Given the description of an element on the screen output the (x, y) to click on. 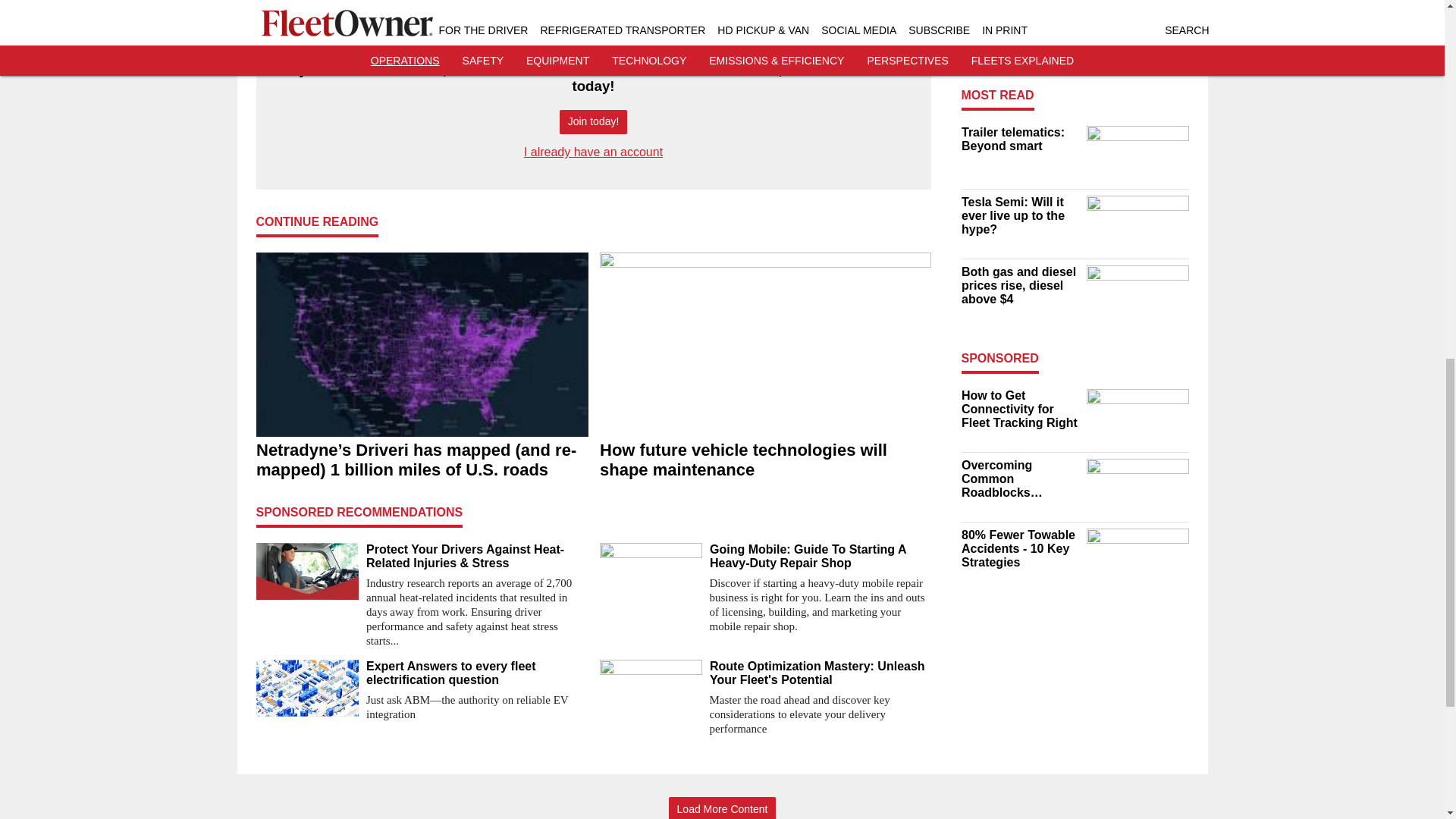
I already have an account (593, 151)
Expert Answers to every fleet electrification question (476, 673)
Join today! (593, 122)
How future vehicle technologies will shape maintenance (764, 459)
Going Mobile: Guide To Starting A Heavy-Duty Repair Shop (820, 556)
Route Optimization Mastery: Unleash Your Fleet's Potential (820, 673)
